Given the description of an element on the screen output the (x, y) to click on. 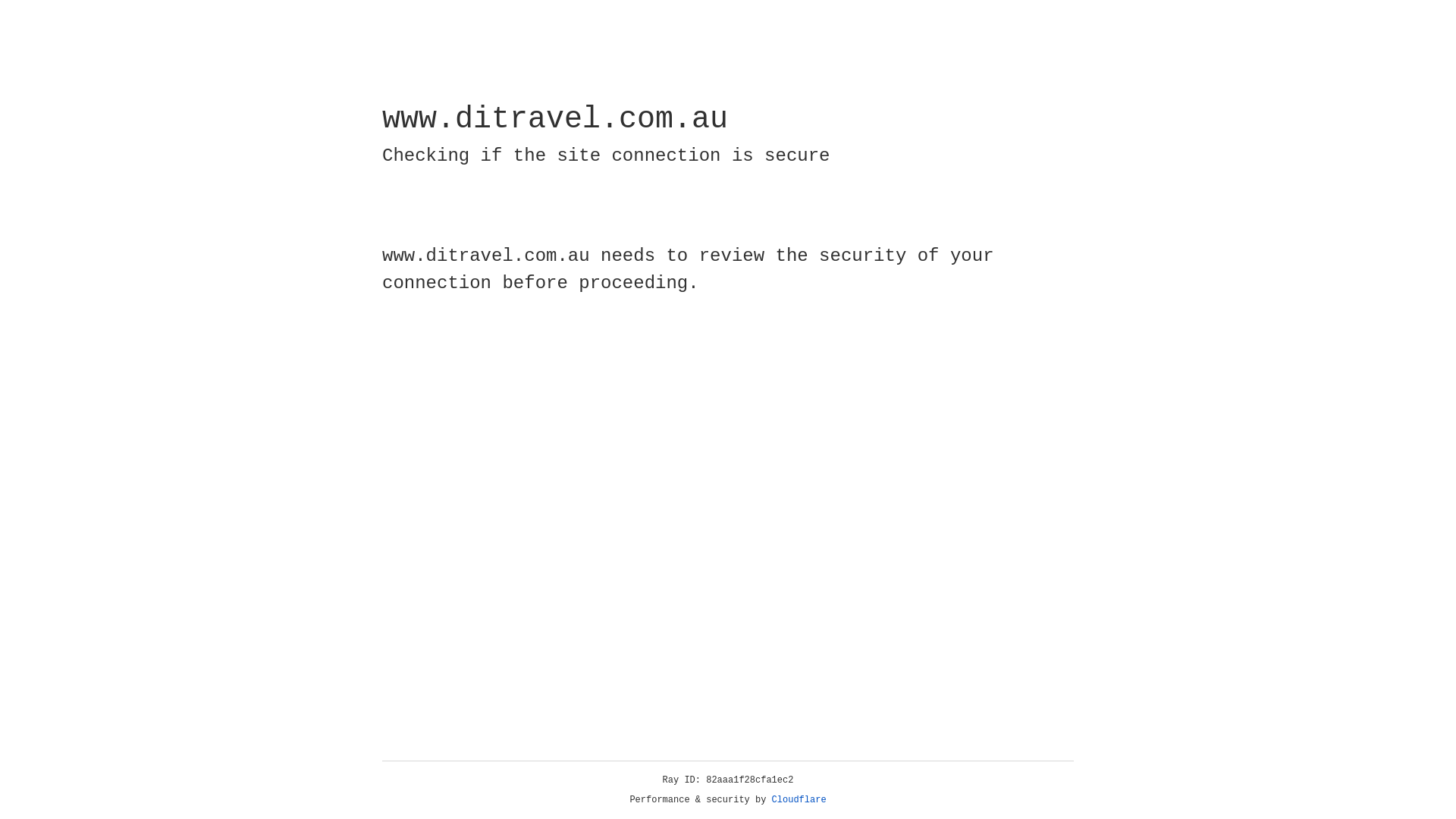
Cloudflare Element type: text (798, 799)
